Given the description of an element on the screen output the (x, y) to click on. 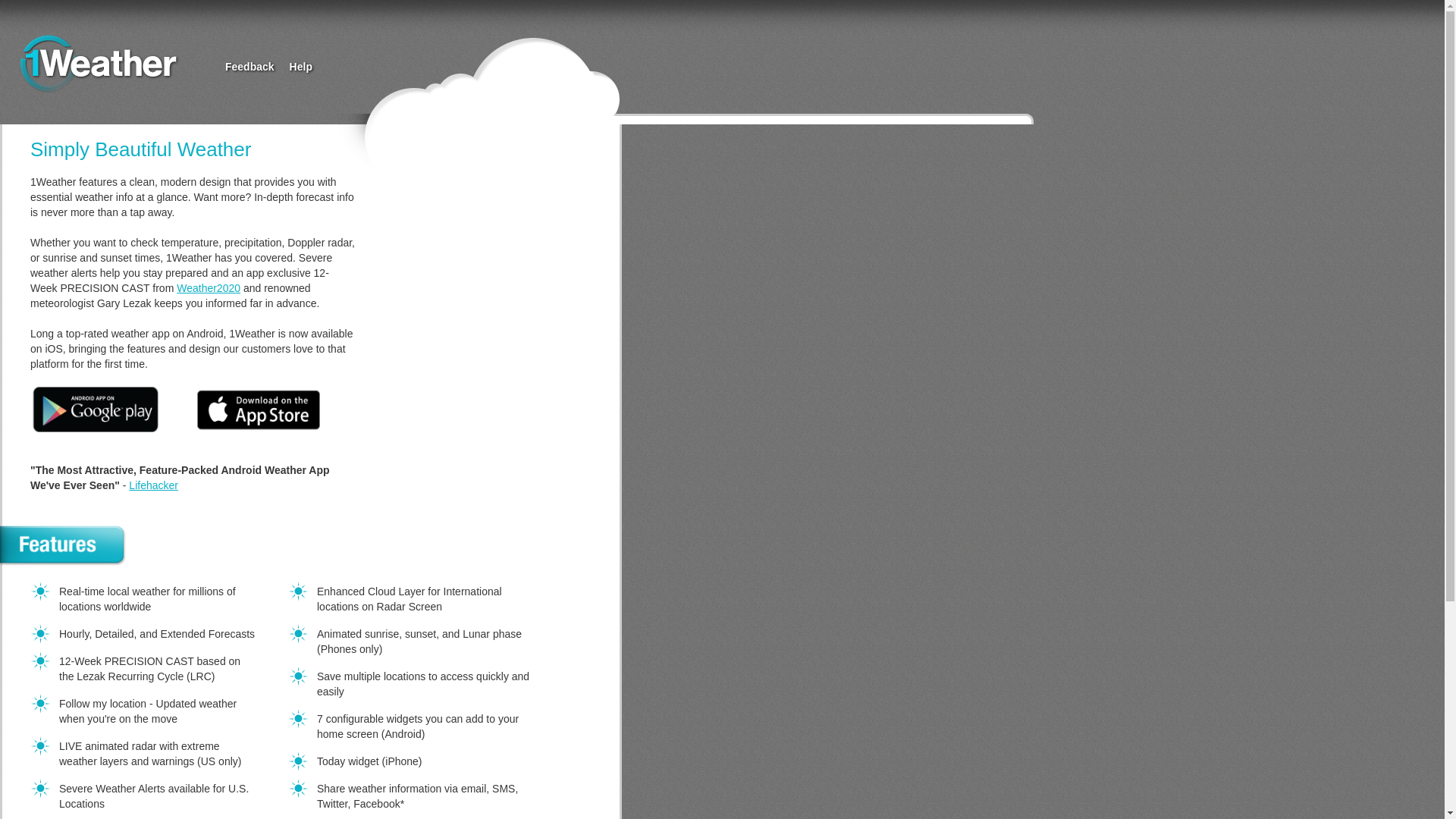
Feedback Element type: text (249, 66)
Lifehacker Element type: text (153, 485)
Help Element type: text (301, 66)
Weather2020 Element type: text (208, 288)
